Given the description of an element on the screen output the (x, y) to click on. 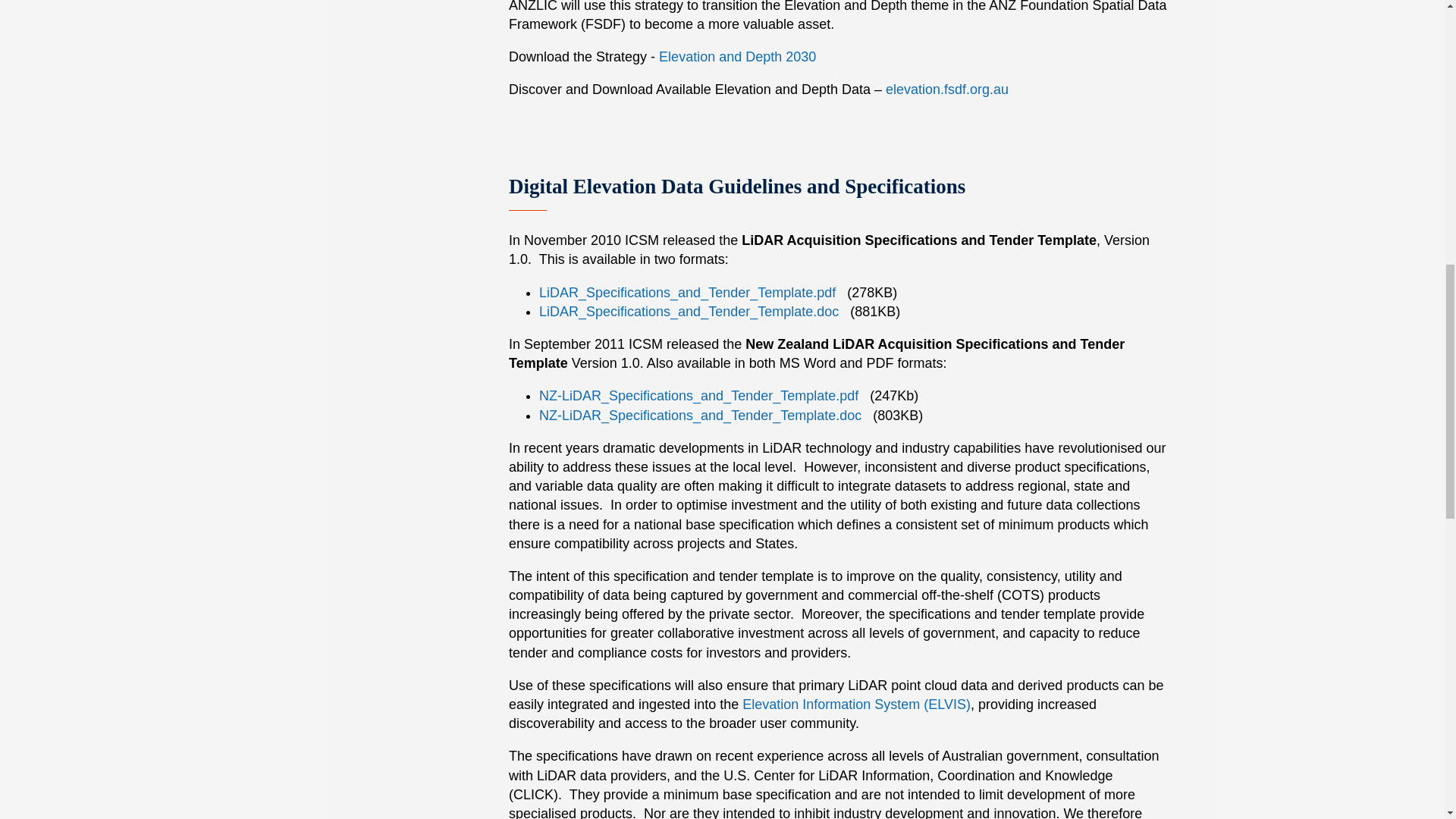
Elevation and Depth 2030: Powering 3D models of our nation (737, 56)
NZ-LiDAR Specifications and Tender Template - pdf version (698, 395)
LiDAR Specifications and Tender Template - pdf version (686, 292)
NZ-LiDAR Specifications and Tender Template - doc version (699, 415)
LiDAR Specifications and Tender Template - doc version (688, 311)
